Given the description of an element on the screen output the (x, y) to click on. 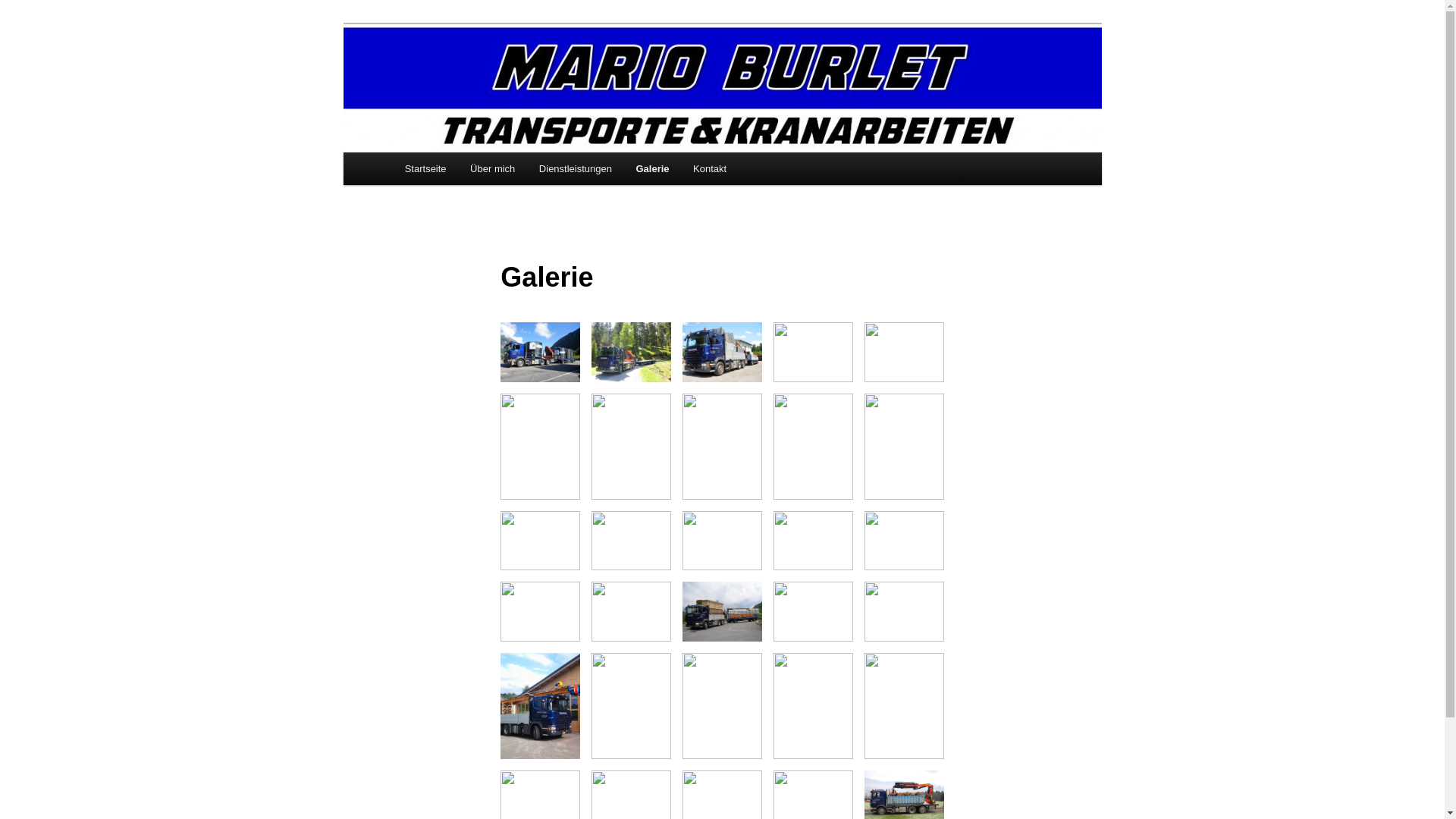
Zum Inhalt wechseln Element type: text (22, 22)
Startseite Element type: text (425, 168)
BURLET TRANSPORTE Element type: text (527, 78)
Dienstleistungen Element type: text (575, 168)
Kontakt Element type: text (709, 168)
Galerie Element type: text (652, 168)
